Given the description of an element on the screen output the (x, y) to click on. 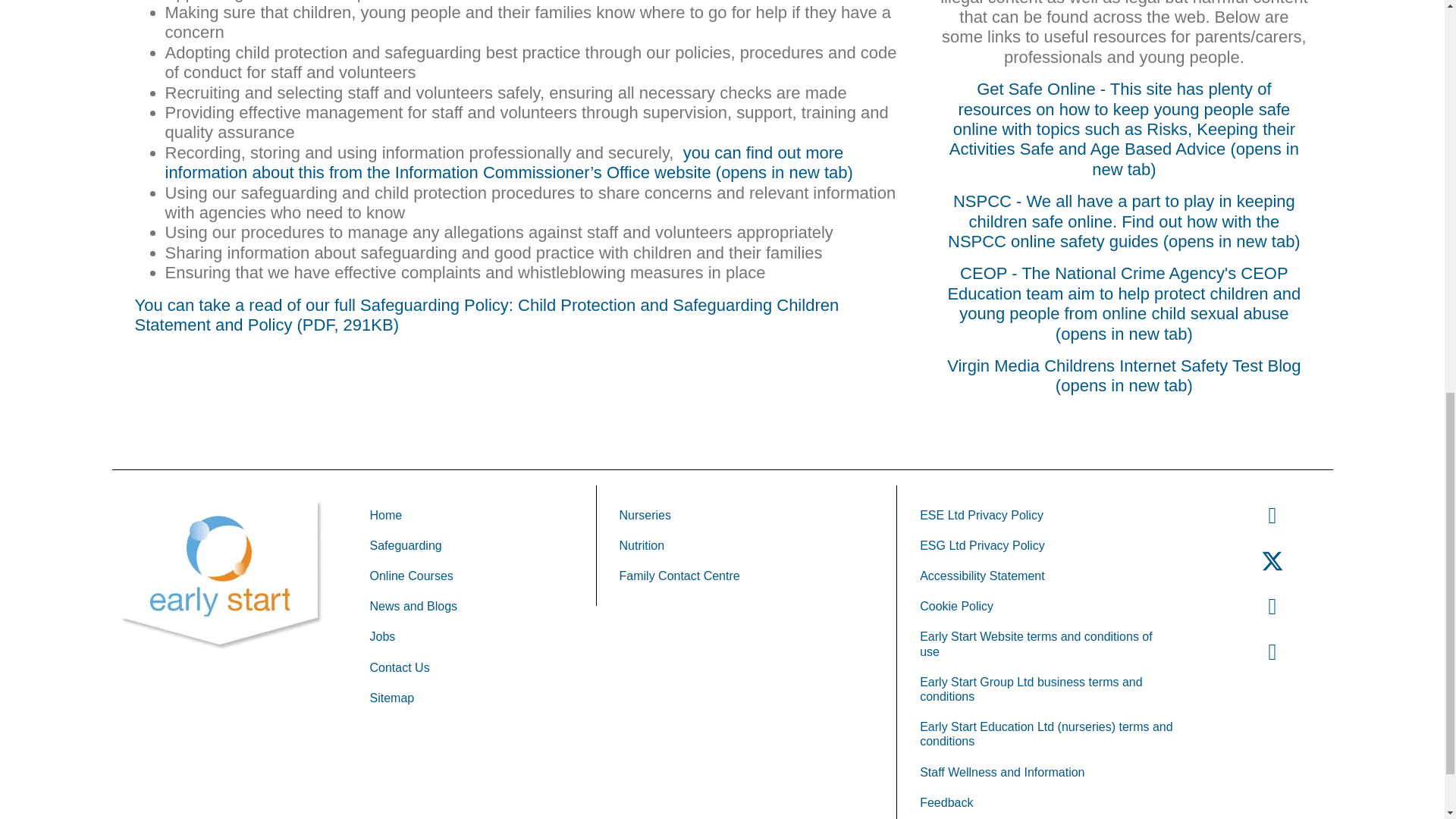
ESG Logo Group (221, 575)
Instagram (1272, 606)
Safeguarding (471, 545)
Facebook (1272, 515)
